Given the description of an element on the screen output the (x, y) to click on. 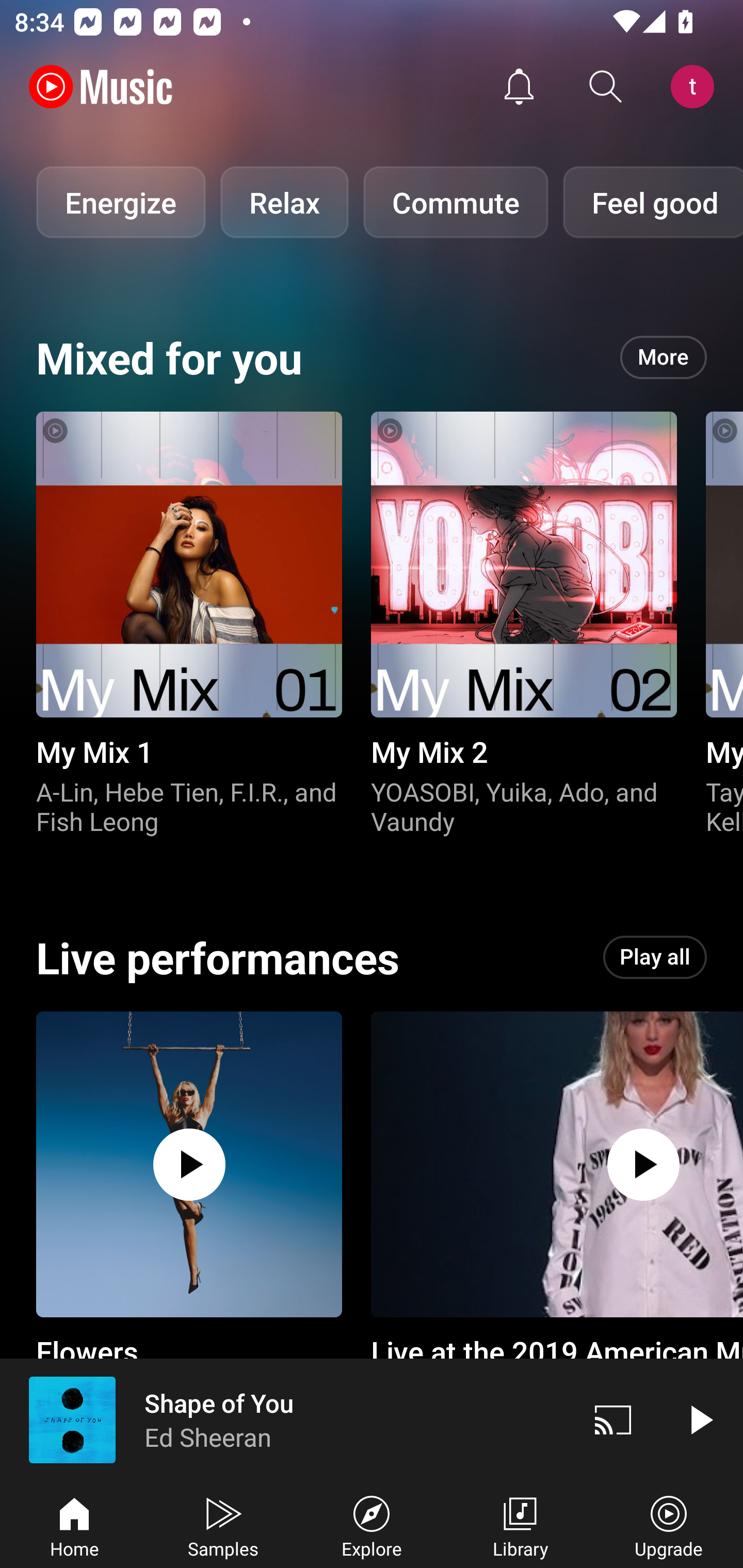
Activity feed (518, 86)
Search (605, 86)
Account (696, 86)
Shape of You Ed Sheeran (284, 1419)
Cast. Disconnected (612, 1419)
Play video (699, 1419)
Home (74, 1524)
Samples (222, 1524)
Explore (371, 1524)
Library (519, 1524)
Upgrade (668, 1524)
